Given the description of an element on the screen output the (x, y) to click on. 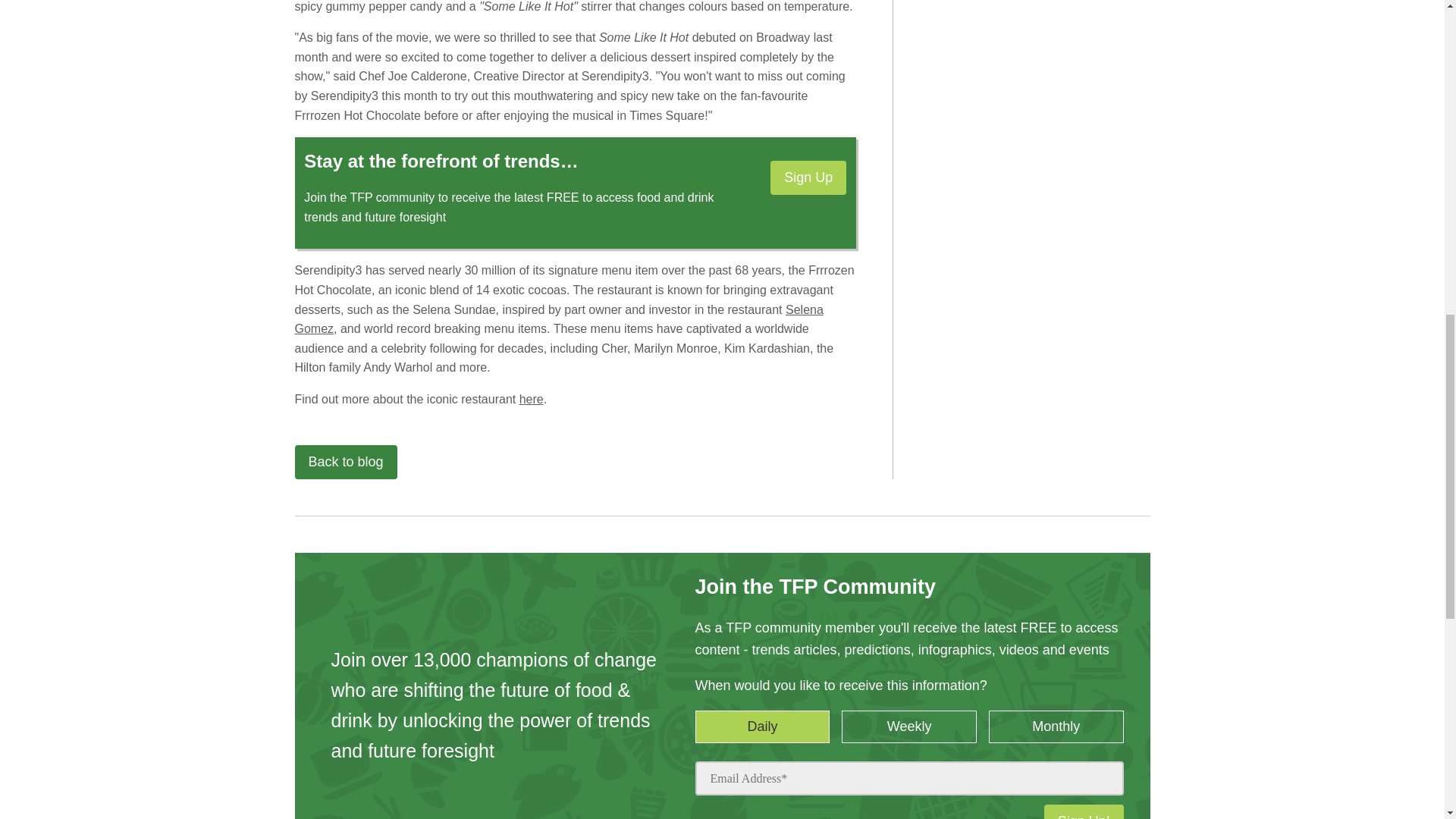
Sign Up! (1083, 811)
Back to blog (345, 462)
Sign Up (807, 177)
here (531, 399)
